Given the description of an element on the screen output the (x, y) to click on. 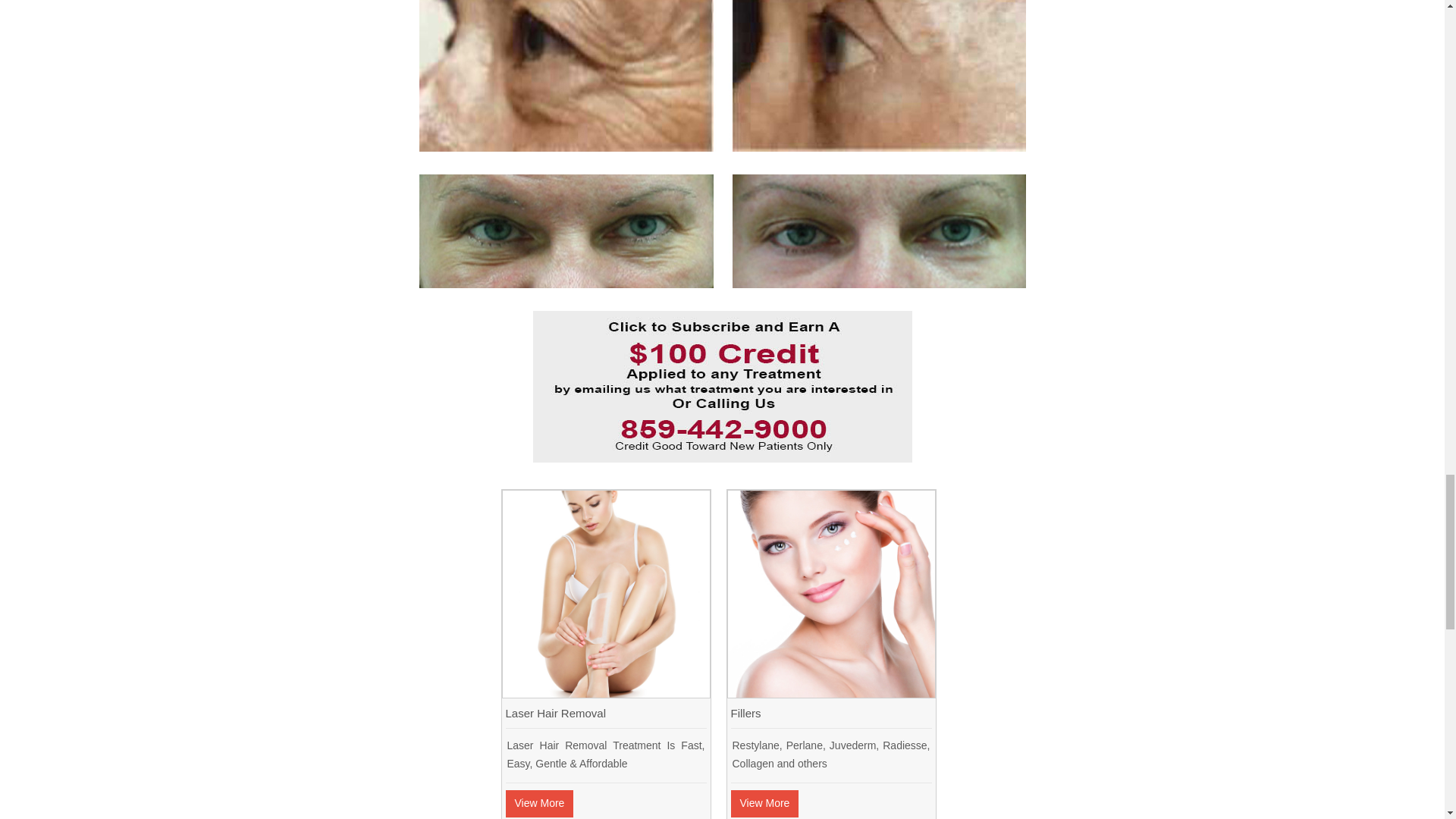
Fillers (831, 693)
Laser Hair Removal (605, 693)
